Given the description of an element on the screen output the (x, y) to click on. 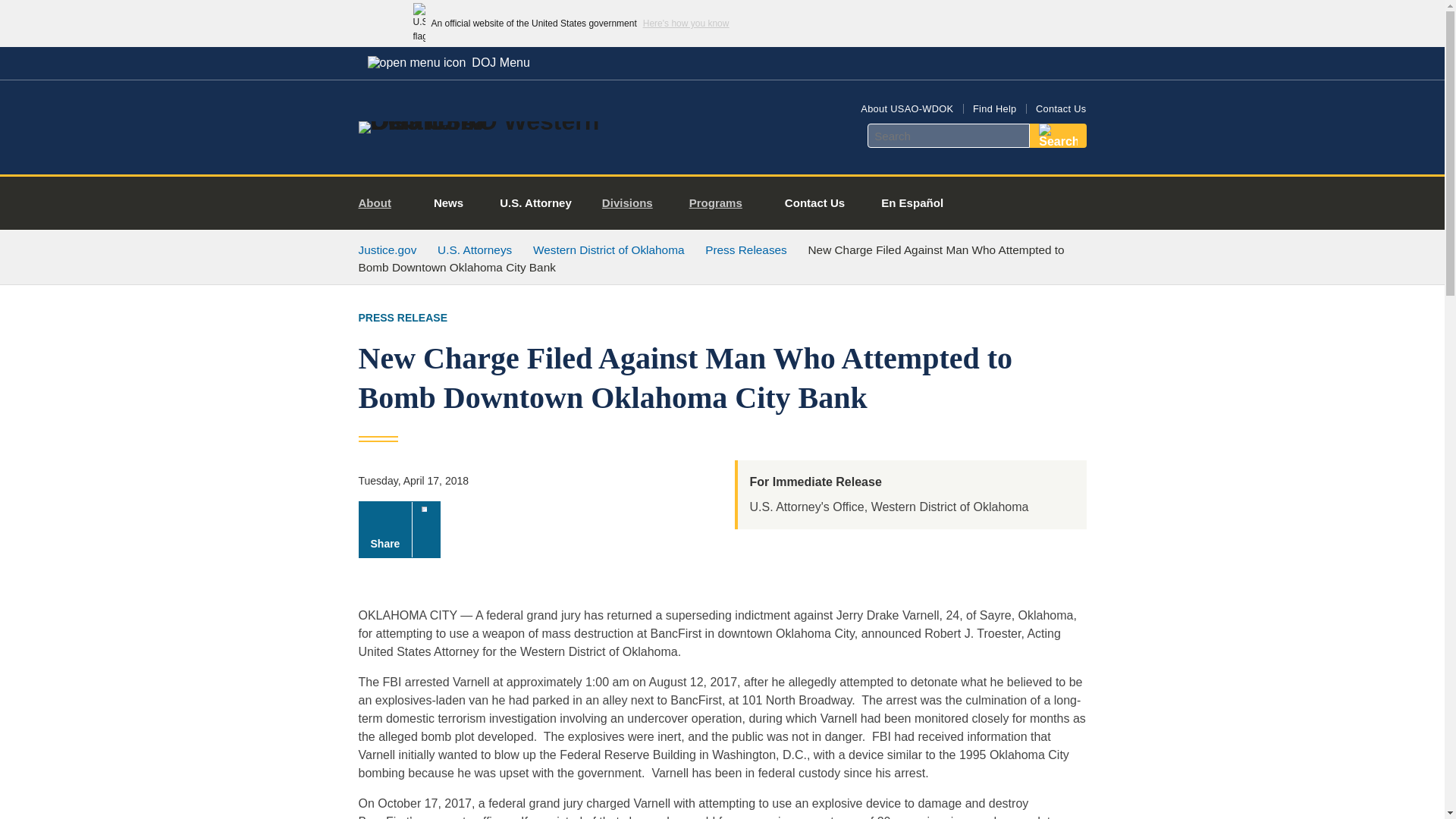
Western District of Oklahoma (608, 249)
Contact Us (815, 203)
U.S. Attorneys (475, 249)
About USAO-WDOK (906, 108)
DOJ Menu (448, 62)
Divisions (633, 203)
Here's how you know (686, 23)
News (447, 203)
About (380, 203)
Contact Us (1060, 108)
